Given the description of an element on the screen output the (x, y) to click on. 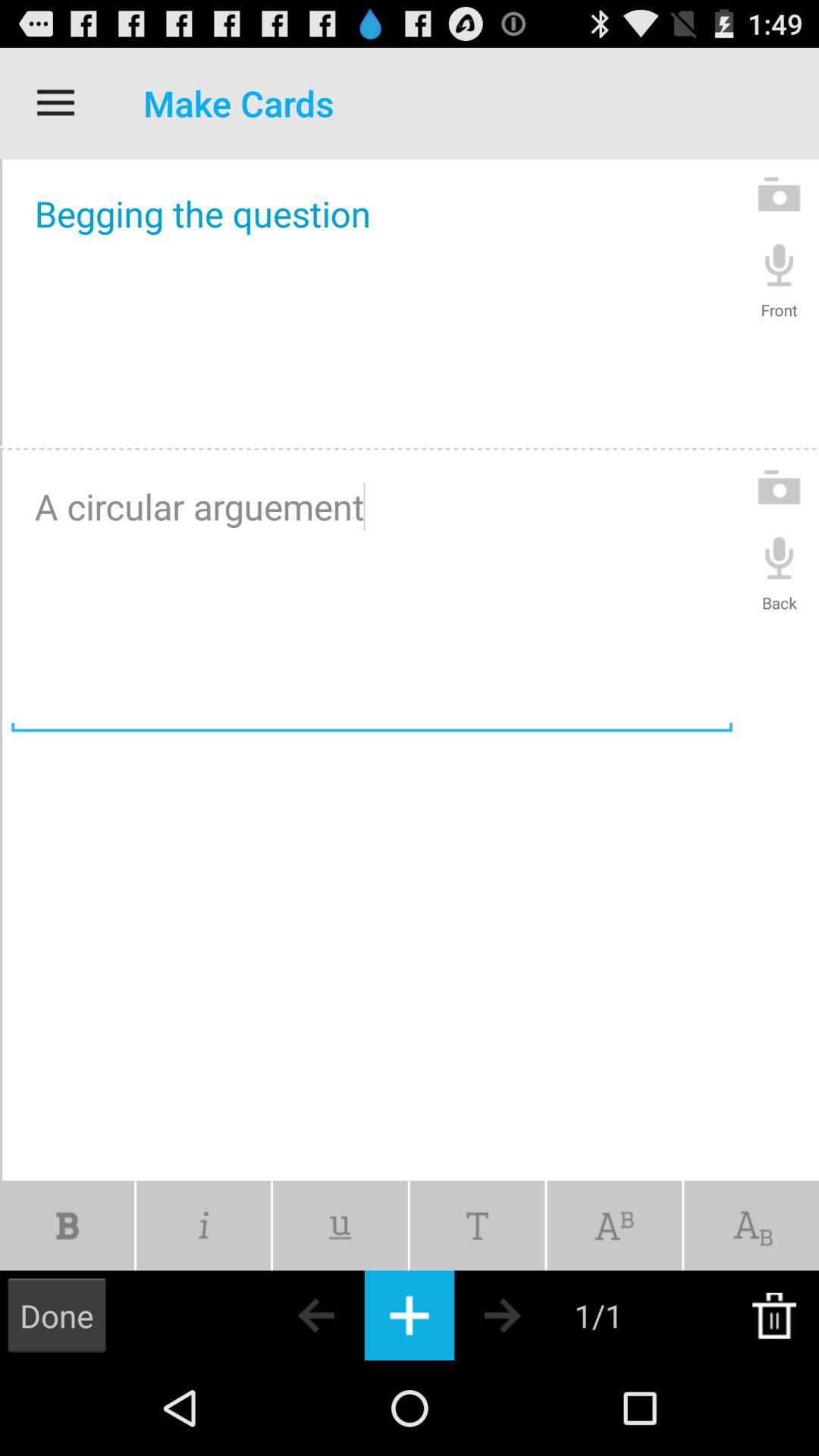
delete note (774, 1315)
